Given the description of an element on the screen output the (x, y) to click on. 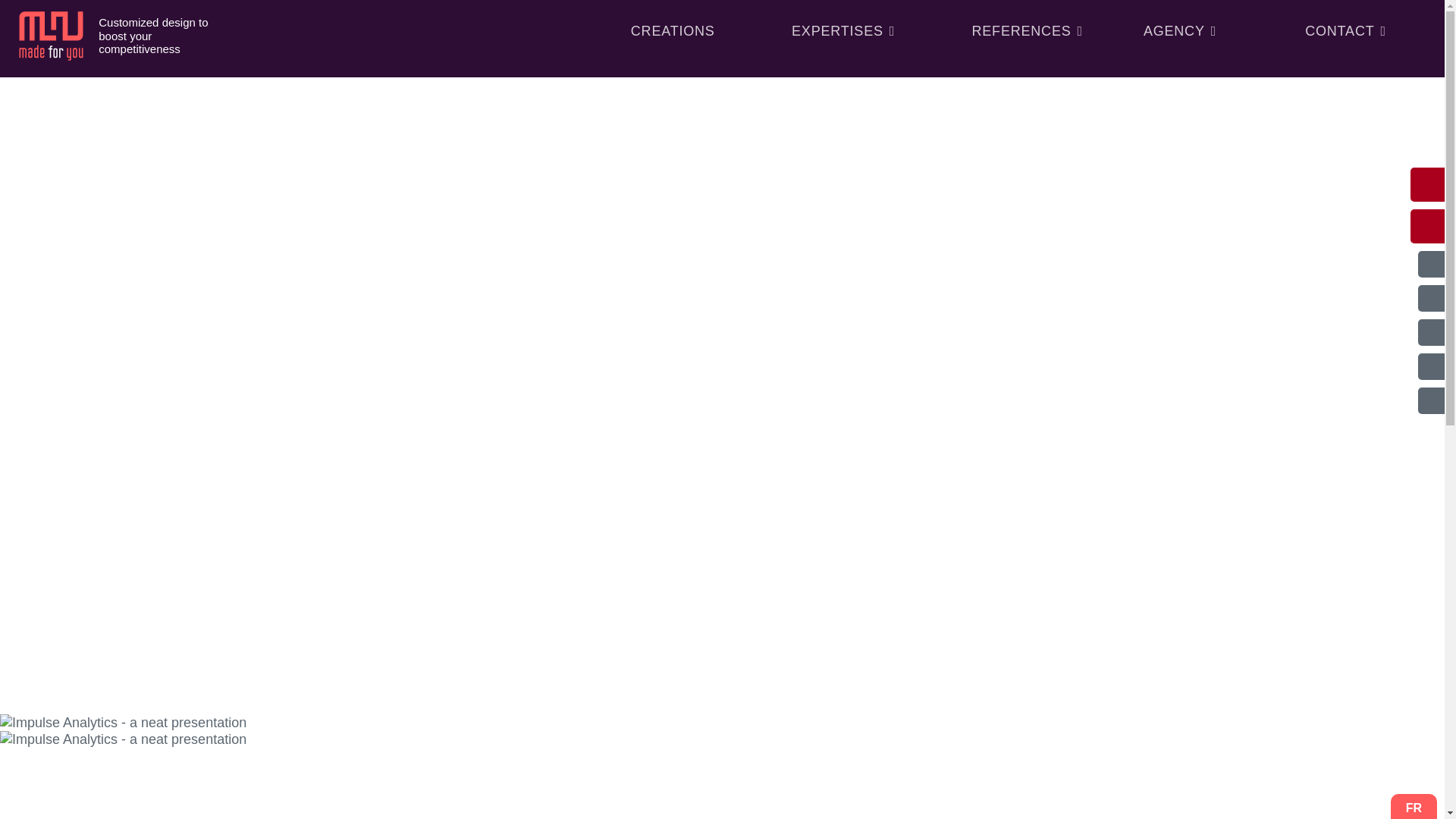
REFERENCES (1026, 30)
CONTACT (1345, 30)
CREATIONS (672, 30)
FR (1414, 808)
EXPERTISES (843, 30)
AGENCY (1179, 30)
